Given the description of an element on the screen output the (x, y) to click on. 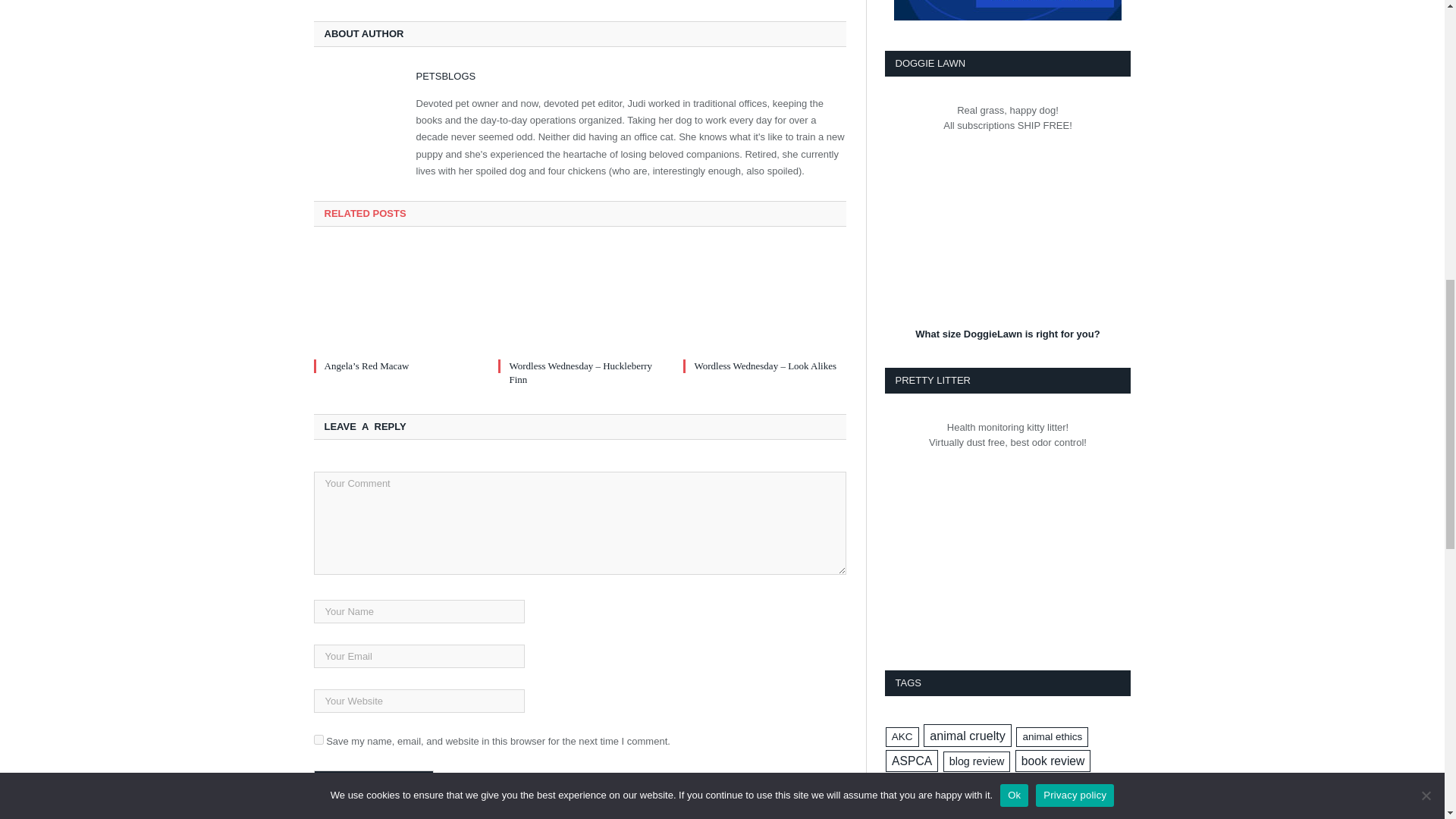
PETSBLOGS (445, 75)
Post Comment (373, 782)
yes (318, 739)
